Given the description of an element on the screen output the (x, y) to click on. 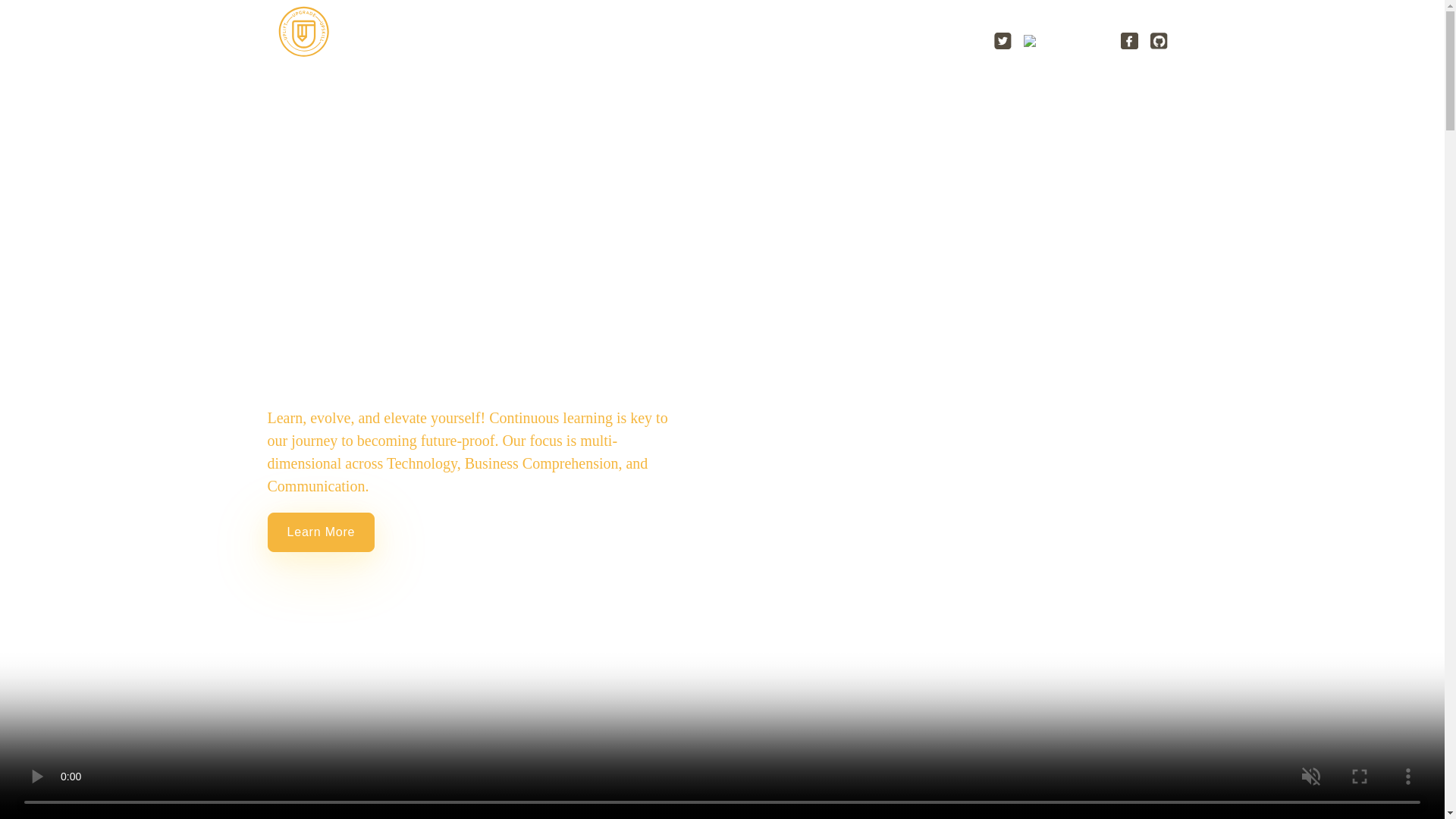
The Process (916, 42)
About Us (719, 42)
Programs (812, 42)
Learn More (297, 532)
